Given the description of an element on the screen output the (x, y) to click on. 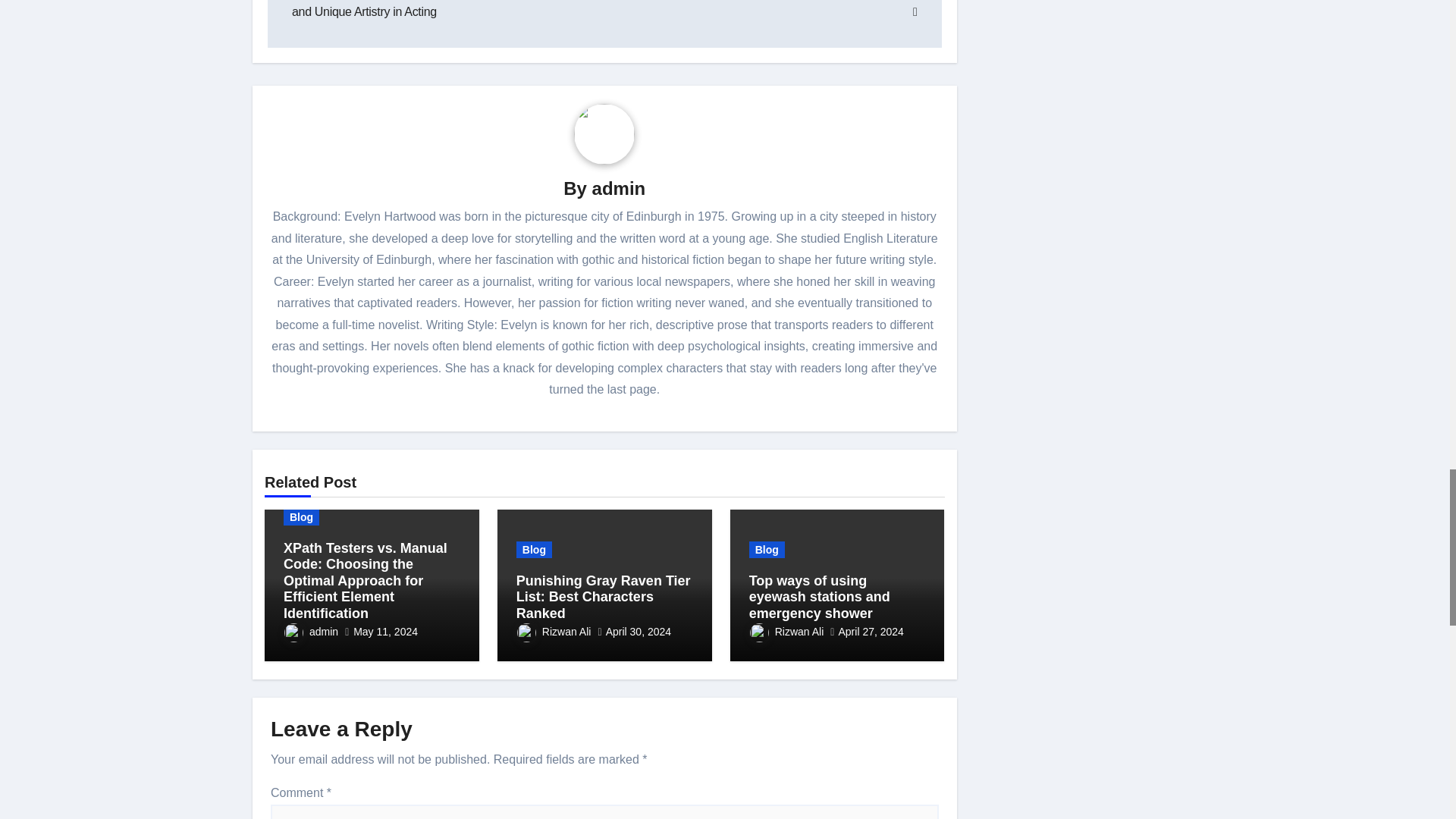
Blog (300, 516)
admin (619, 188)
Dubai Desert Safari What You Need to Know Before You Go (762, 9)
